Given the description of an element on the screen output the (x, y) to click on. 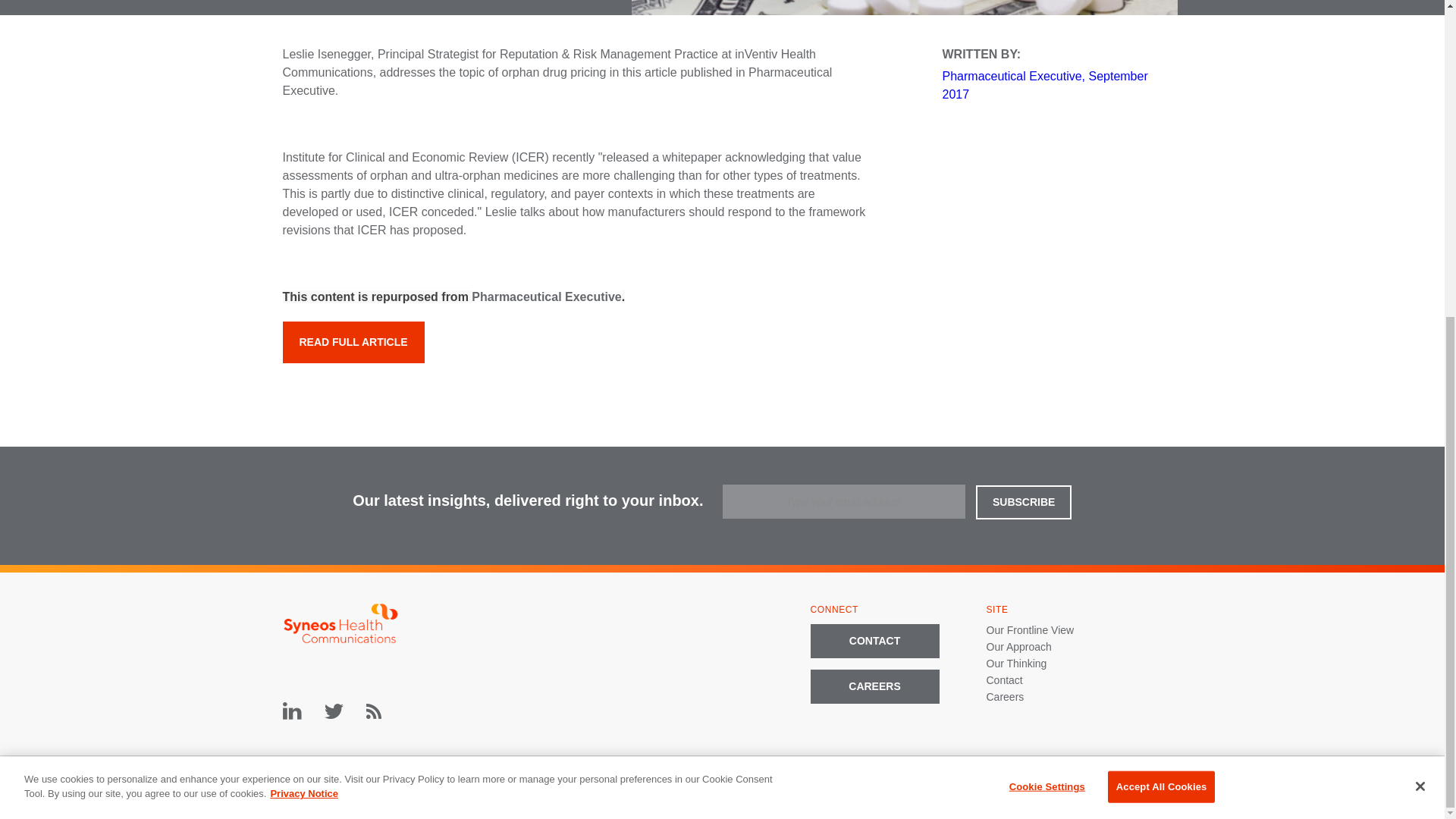
Our Frontline View (1029, 629)
Privacy Policy - Updated (971, 785)
Our Approach (1018, 645)
Pharmaceutical Executive, September 2017 (1044, 84)
Our Thinking (1015, 662)
Online Tracking Opt-Out (1086, 785)
Site Map (797, 785)
SUBSCRIBE (1023, 502)
CAREERS (874, 685)
Contact (1003, 679)
CONTACT (874, 640)
Careers (1004, 695)
READ FULL ARTICLE (352, 342)
